Given the description of an element on the screen output the (x, y) to click on. 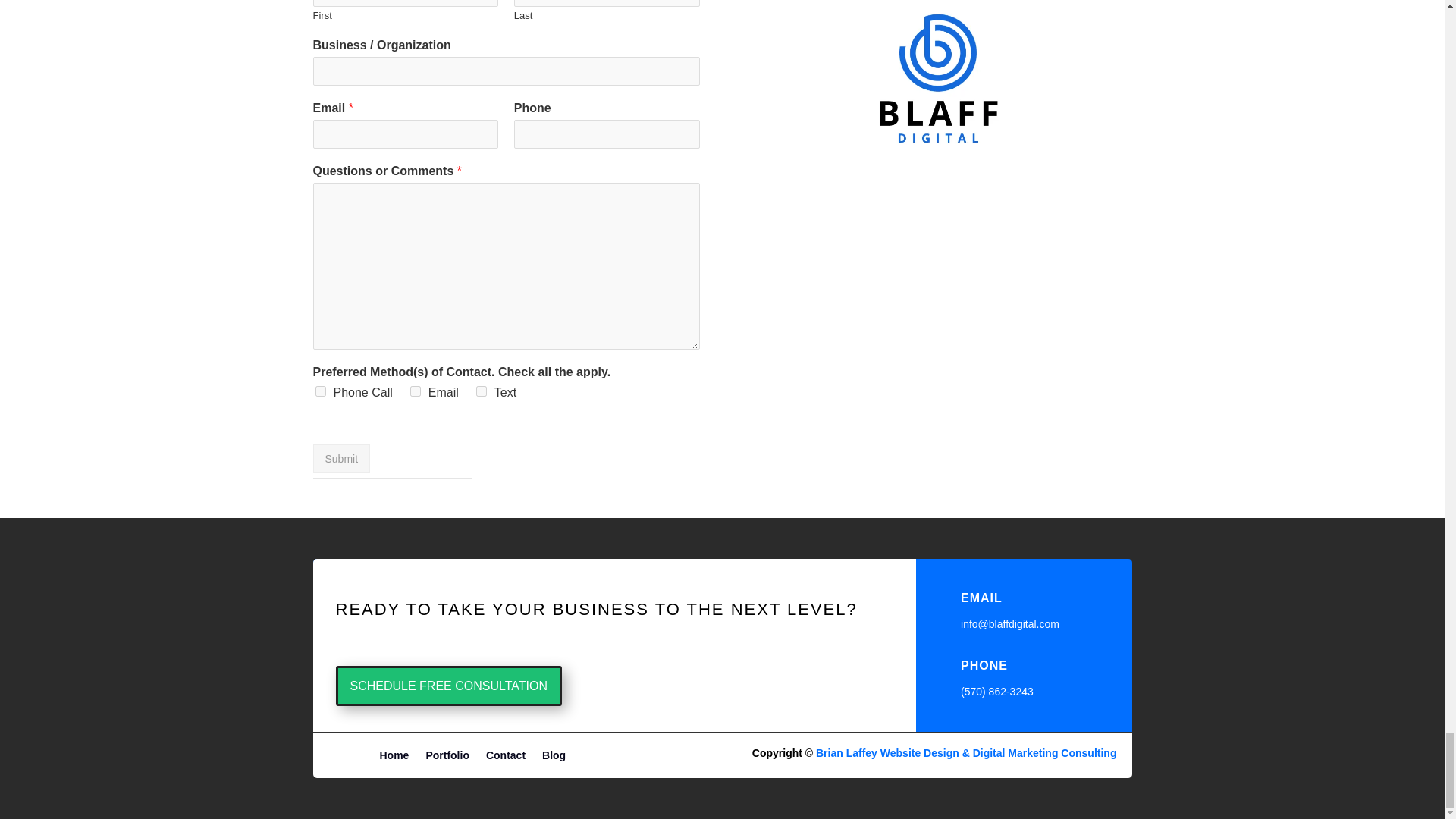
1 (937, 136)
Phone Call (320, 390)
Text (481, 390)
Email (415, 390)
